Given the description of an element on the screen output the (x, y) to click on. 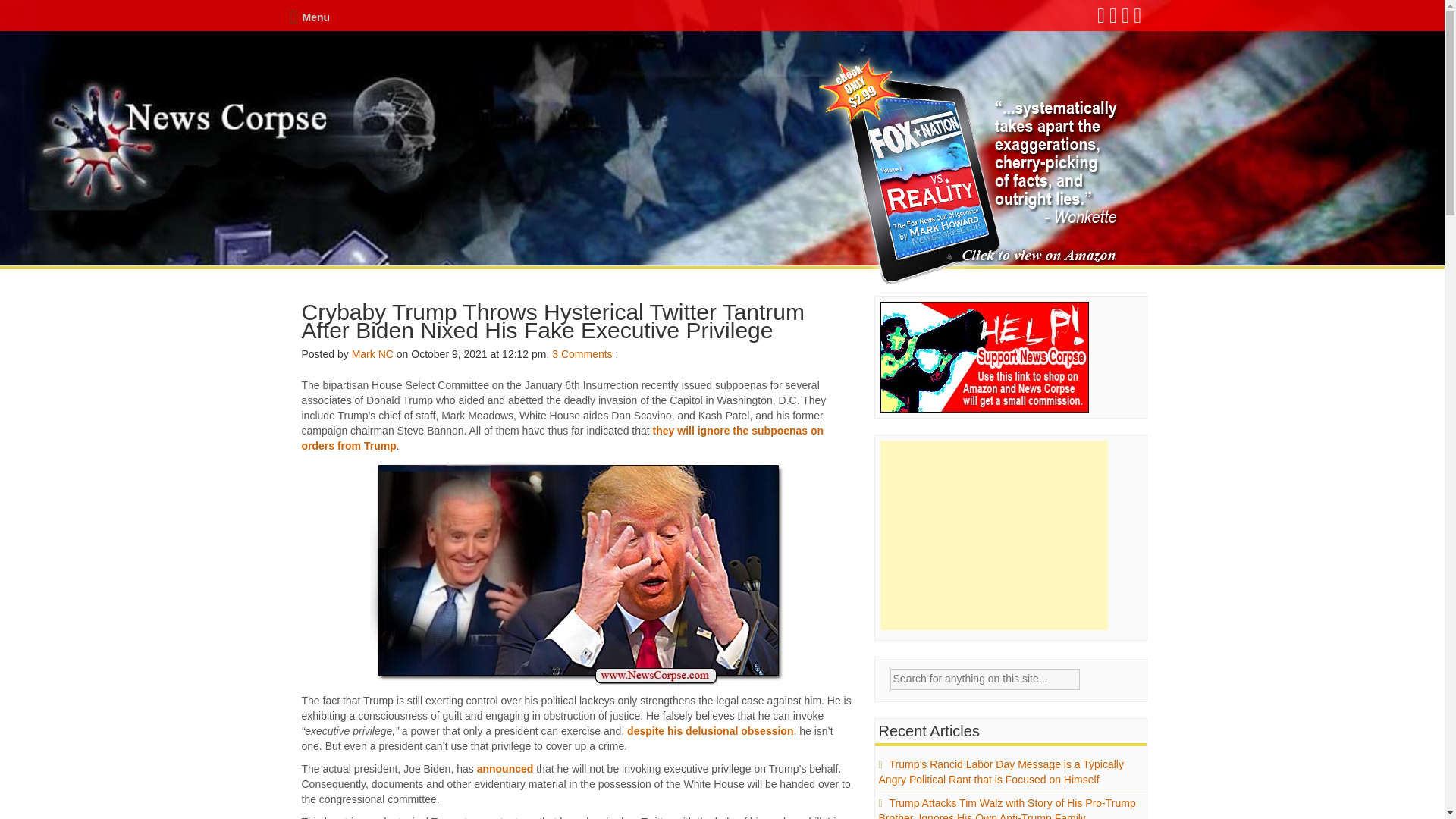
Menu (309, 17)
Posts by Mark NC (372, 354)
announced (505, 768)
Fox Nation vs. Reality (971, 170)
Comments (586, 354)
they will ignore the subpoenas on orders from Trump (562, 438)
Mark NC (372, 354)
despite his delusional obsession (710, 730)
